Given the description of an element on the screen output the (x, y) to click on. 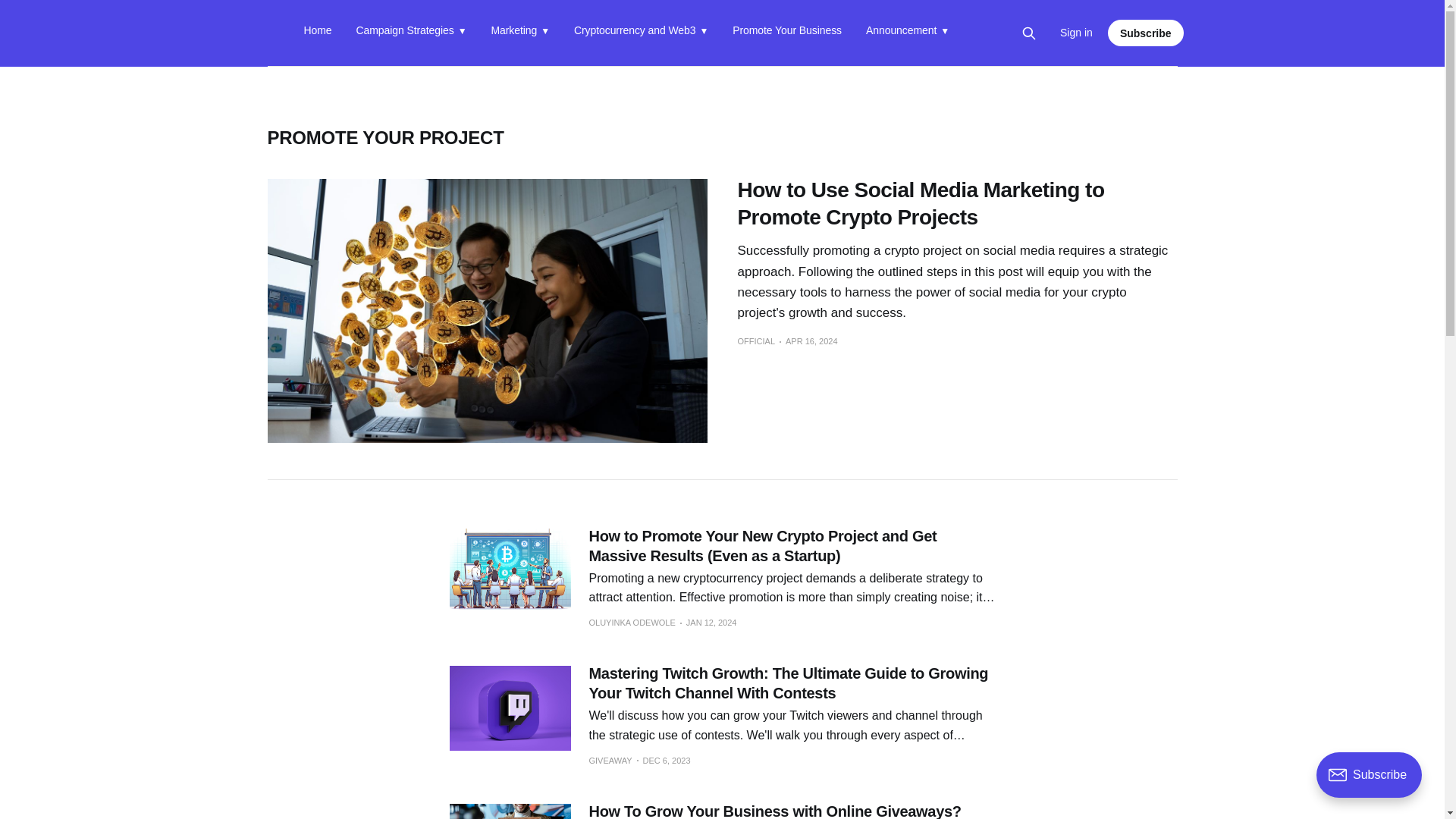
Cryptocurrency and Web3 (640, 32)
Promote Your Business (786, 32)
Sign in (1076, 32)
Marketing (520, 32)
Subscribe (1145, 32)
Campaign Strategies (411, 32)
Announcement (907, 32)
Home (316, 32)
